Given the description of an element on the screen output the (x, y) to click on. 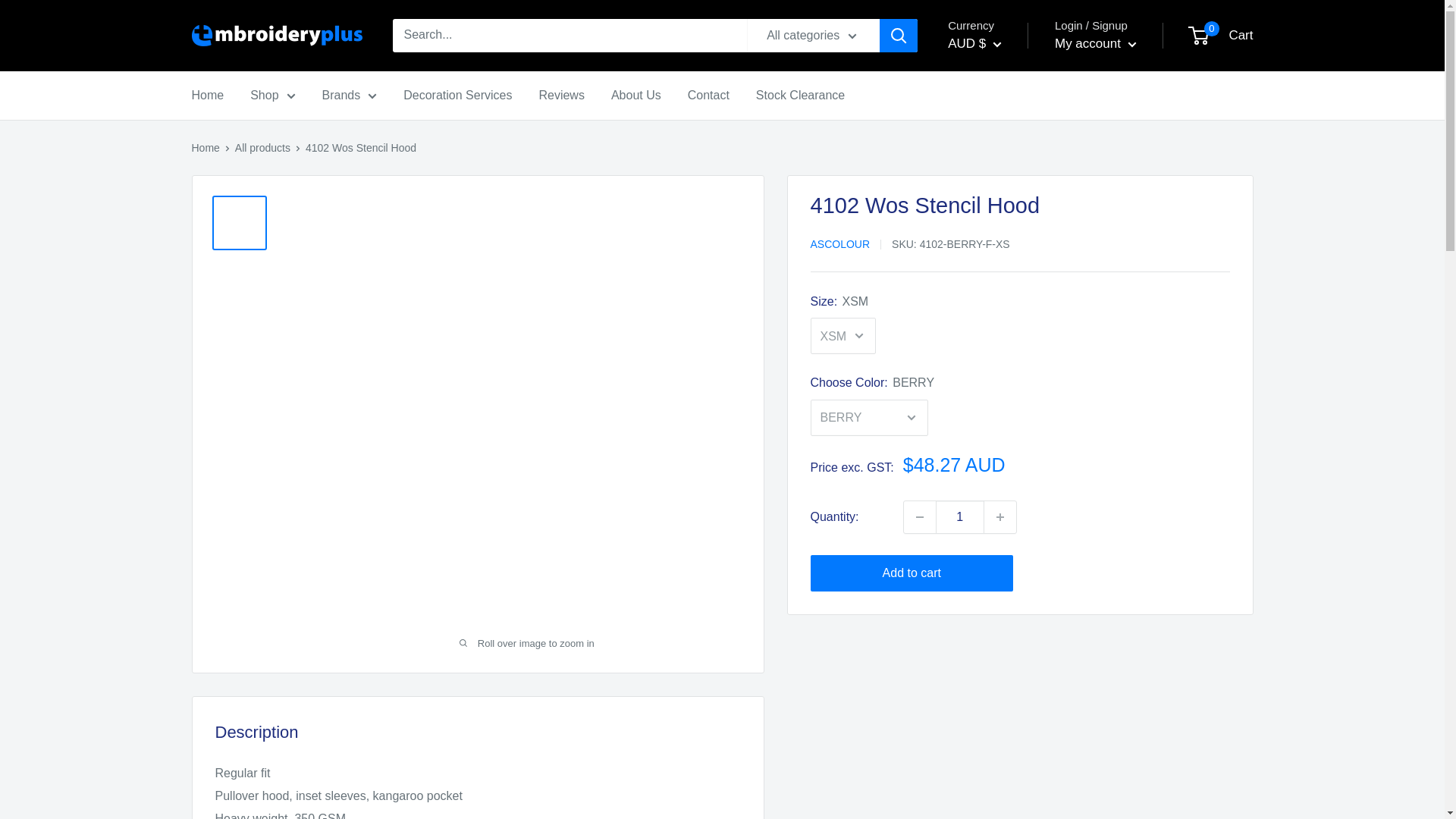
Decrease quantity by 1 (920, 517)
1 (960, 517)
Increase quantity by 1 (1000, 517)
